Given the description of an element on the screen output the (x, y) to click on. 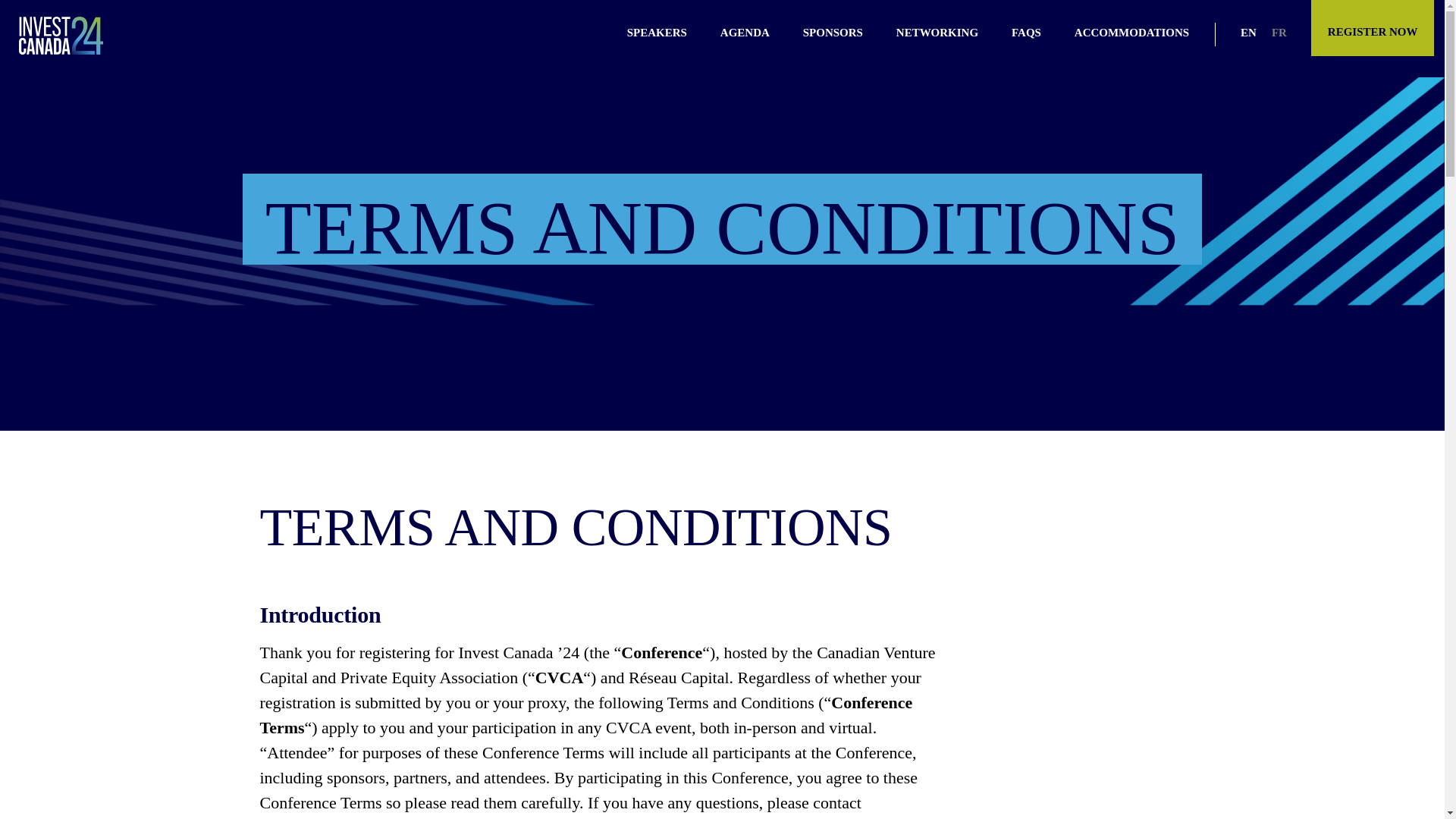
ACCOMMODATIONS (1131, 32)
FAQS (1026, 32)
REGISTER NOW (1372, 28)
SPEAKERS (657, 32)
EN (1248, 32)
FR (1279, 32)
EN (1248, 32)
AGENDA (745, 32)
SPONSORS (833, 32)
NETWORKING (937, 32)
